Given the description of an element on the screen output the (x, y) to click on. 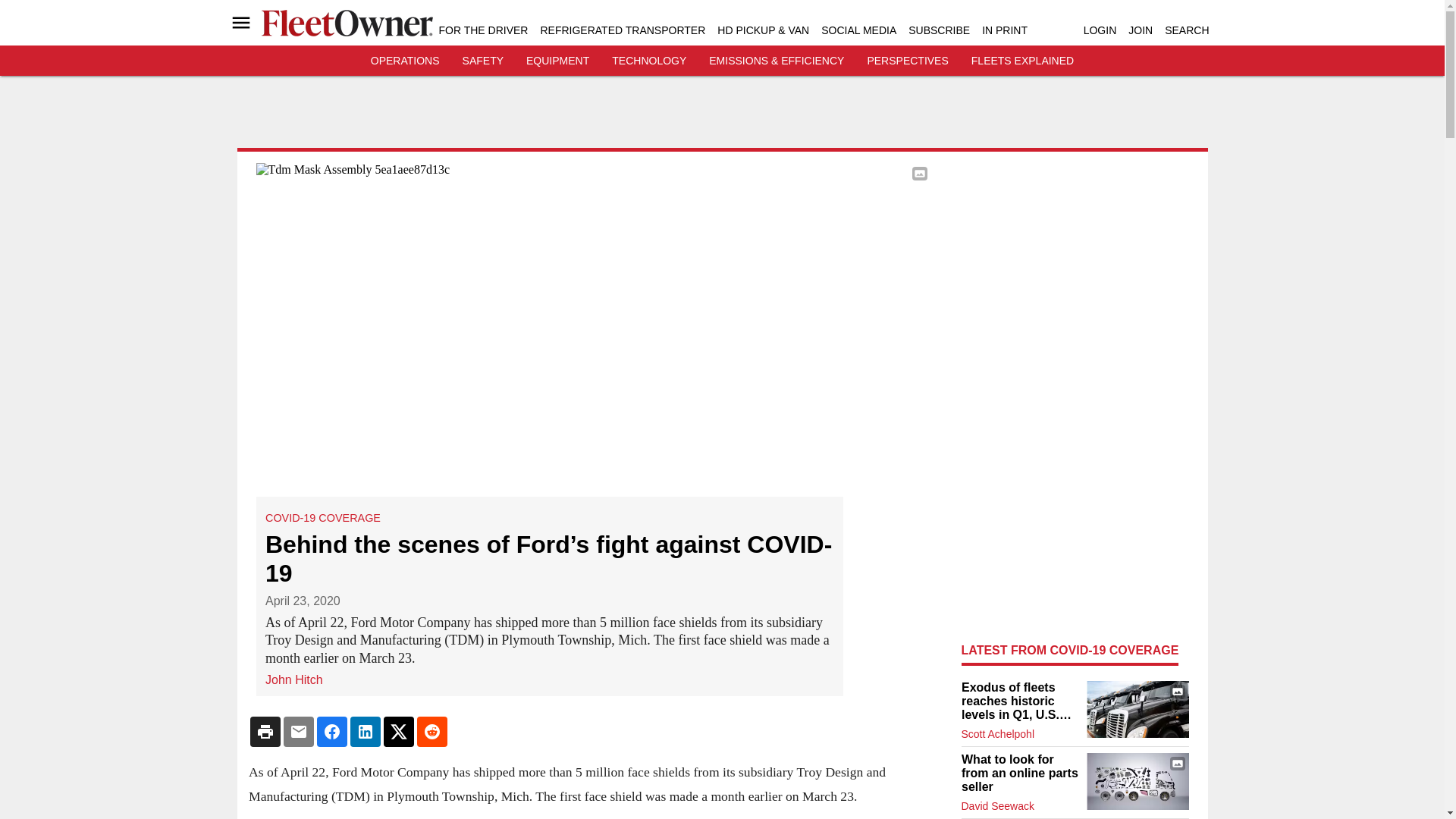
SOCIAL MEDIA (858, 30)
REFRIGERATED TRANSPORTER (622, 30)
SUBSCRIBE (938, 30)
SEARCH (1186, 30)
FLEETS EXPLAINED (1022, 60)
FOR THE DRIVER (482, 30)
LOGIN (1099, 30)
IN PRINT (1004, 30)
SAFETY (483, 60)
